Given the description of an element on the screen output the (x, y) to click on. 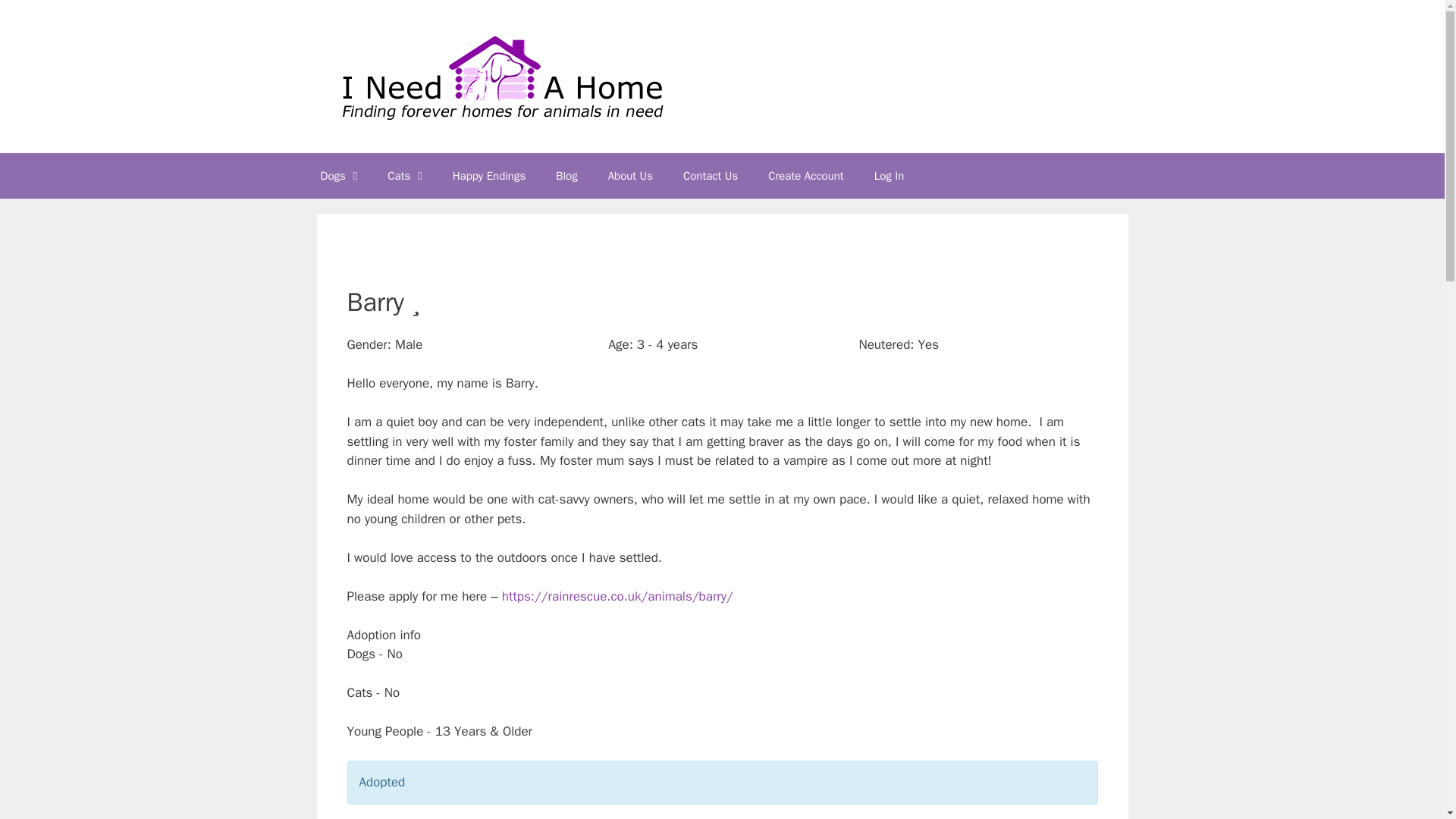
Contact Us (710, 176)
Happy Endings (489, 176)
Cats (404, 176)
I Need a Home (500, 76)
Create Account (805, 176)
Log In (889, 176)
About Us (630, 176)
I Need a Home (500, 75)
Blog (566, 176)
Dogs (338, 176)
